Given the description of an element on the screen output the (x, y) to click on. 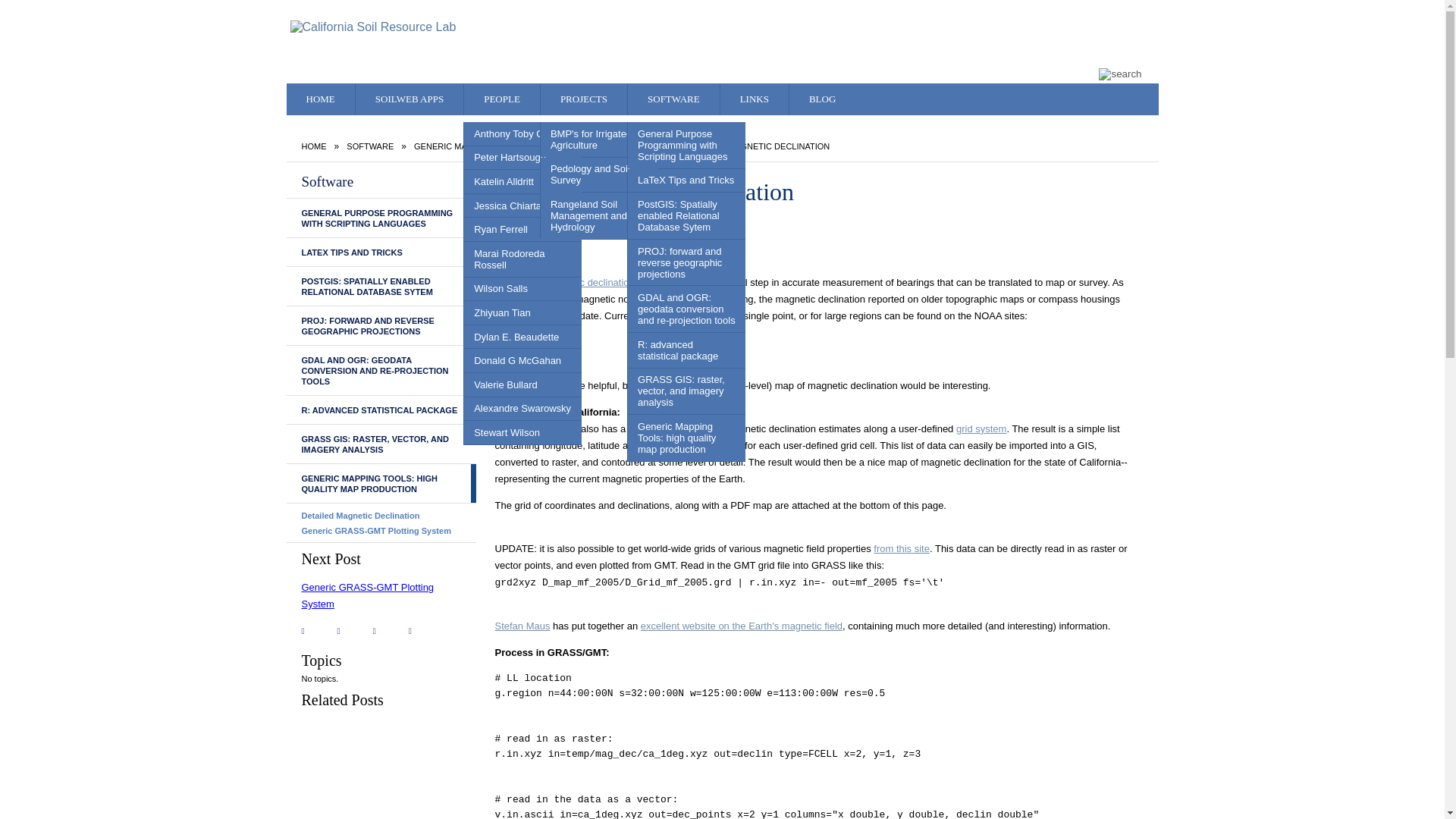
Donald G McGahan (521, 360)
Wilson Salls (521, 289)
Stewart Wilson (521, 432)
SOILWEB APPS (409, 99)
HOME (320, 99)
Pedology and Soil Survey (599, 175)
Marai Rodoreda Rossell (521, 258)
Jessica Chiartas (521, 205)
Alexandre Swarowsky (521, 408)
Katelin Alldritt (521, 181)
